Given the description of an element on the screen output the (x, y) to click on. 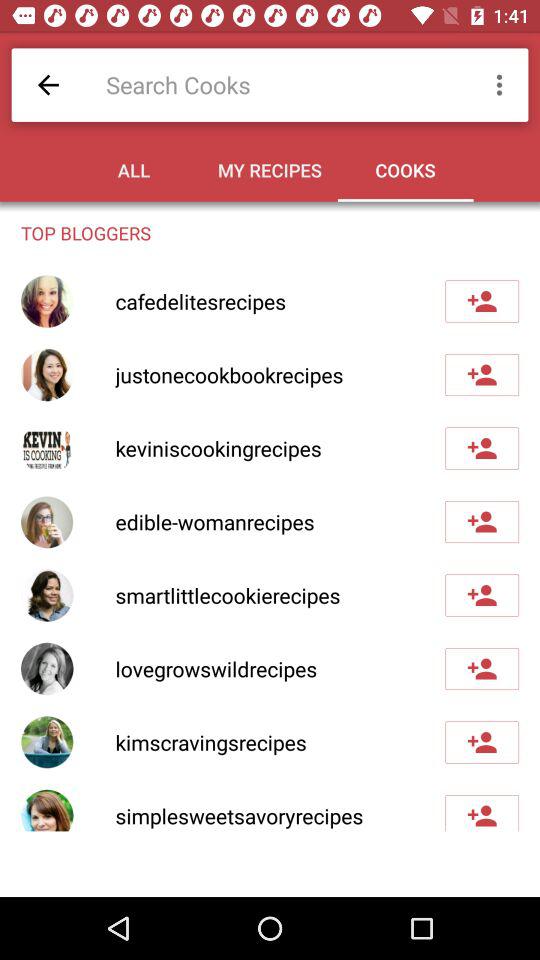
add friend (482, 742)
